Given the description of an element on the screen output the (x, y) to click on. 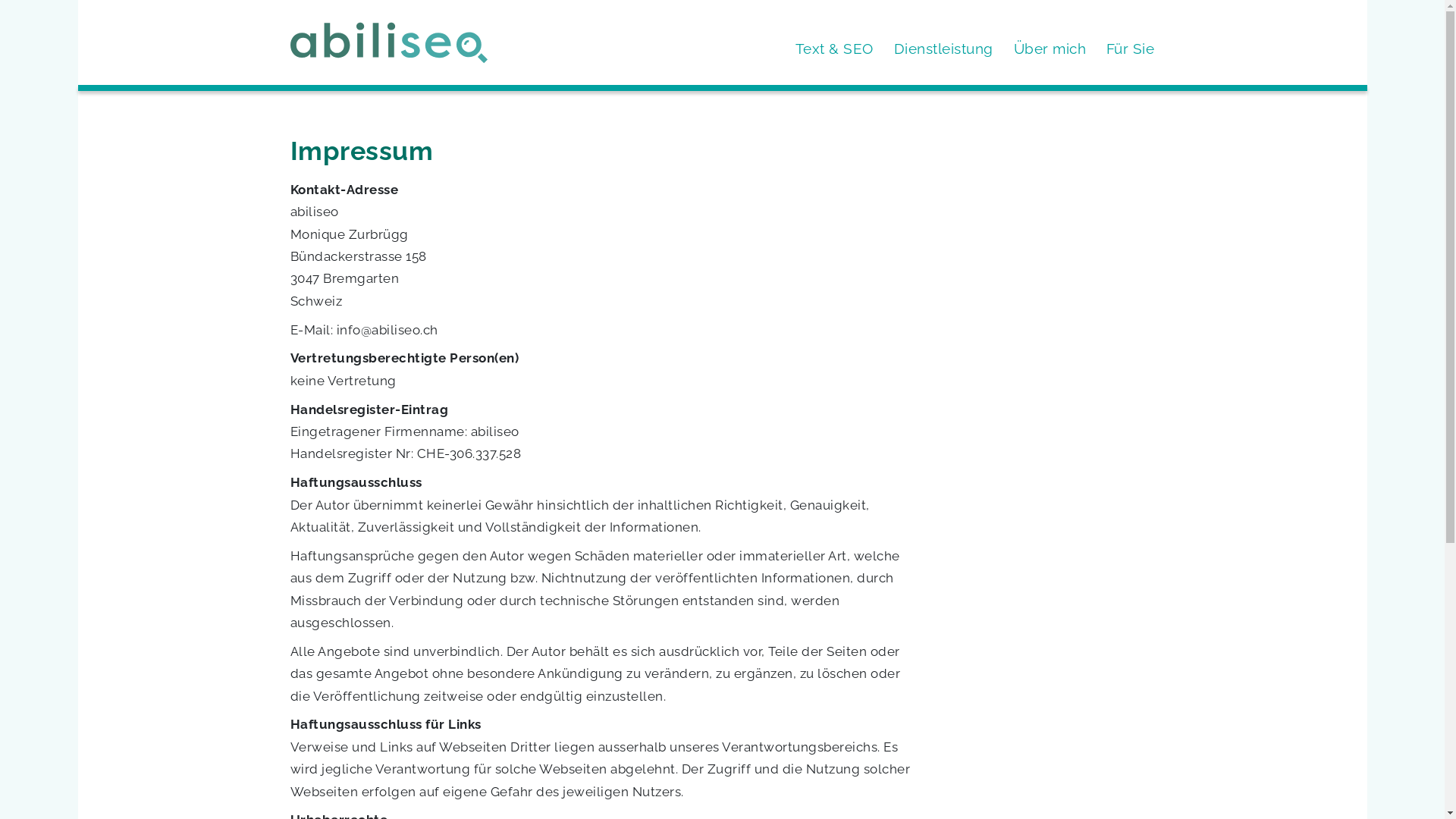
Text & SEO Element type: text (834, 48)
Dienstleistung Element type: text (943, 48)
